Given the description of an element on the screen output the (x, y) to click on. 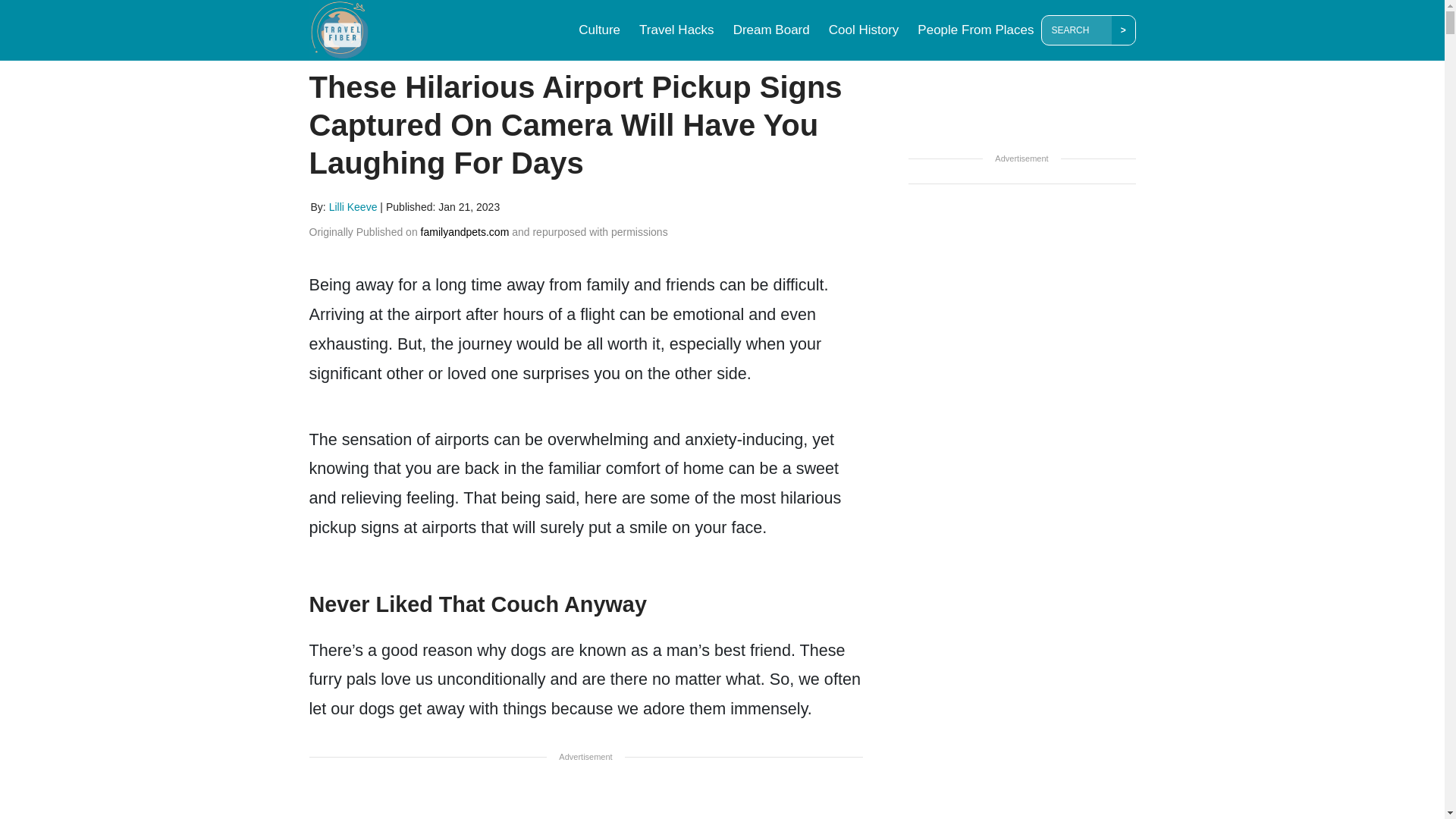
Travel Hacks (676, 30)
Cool History (864, 30)
Dream Board (770, 30)
Culture (598, 30)
People From Places (975, 30)
familyandpets.com (464, 232)
Search (1079, 30)
Lilli Keeve (354, 206)
